Given the description of an element on the screen output the (x, y) to click on. 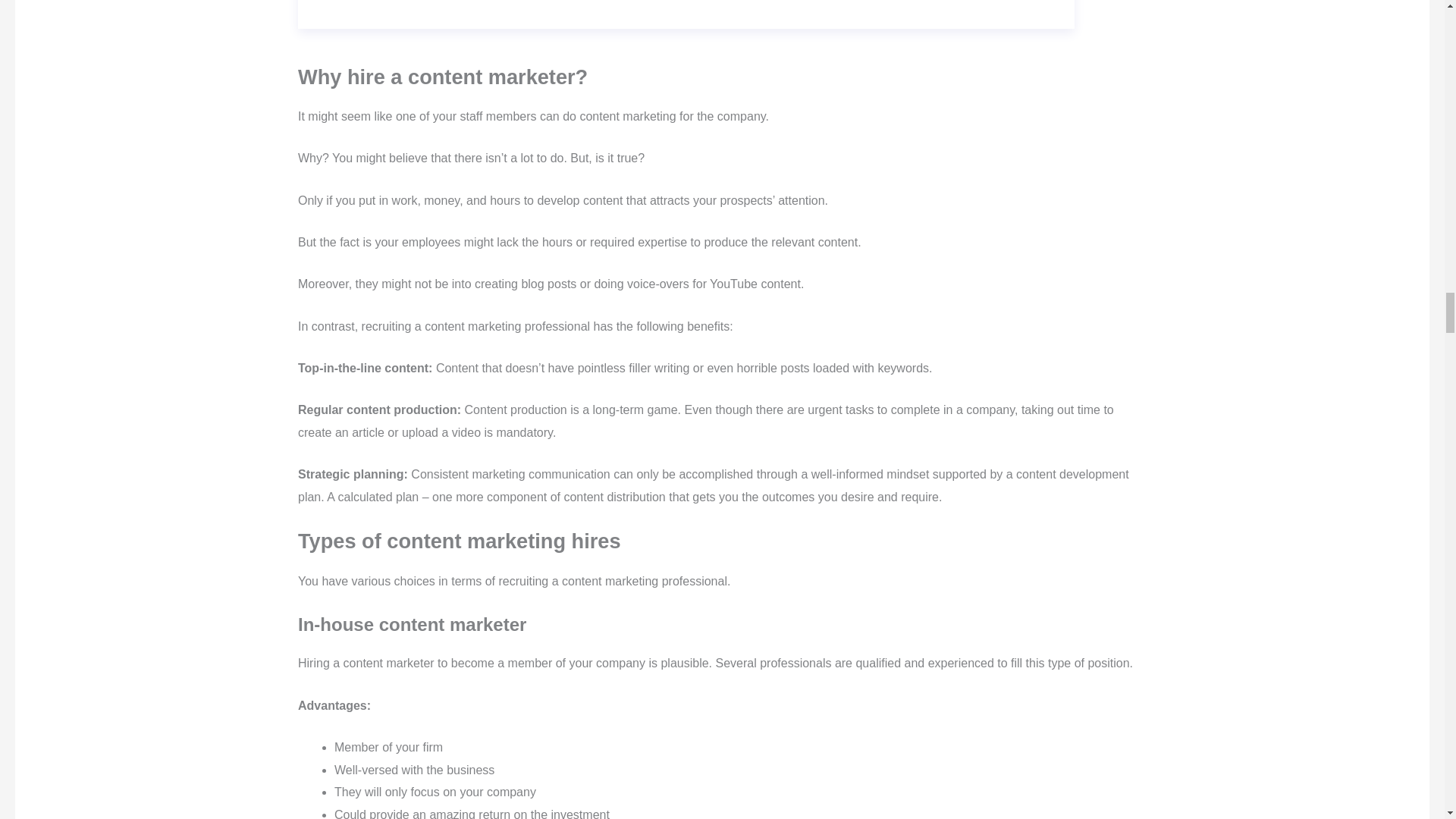
content-calendar-example (686, 14)
